Given the description of an element on the screen output the (x, y) to click on. 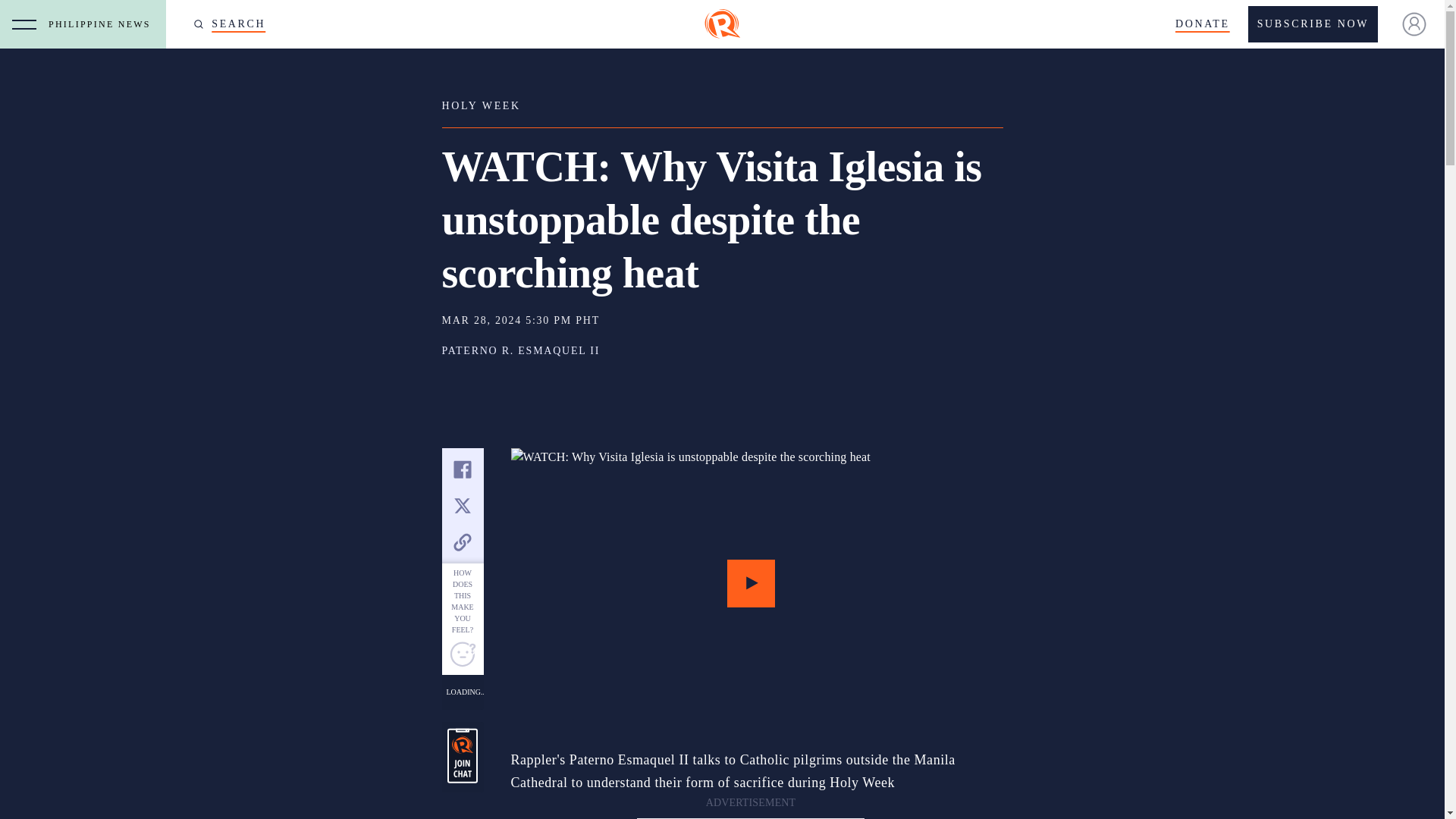
PHILIPPINE NEWS (103, 23)
OPEN NAVIGATION (24, 24)
